Given the description of an element on the screen output the (x, y) to click on. 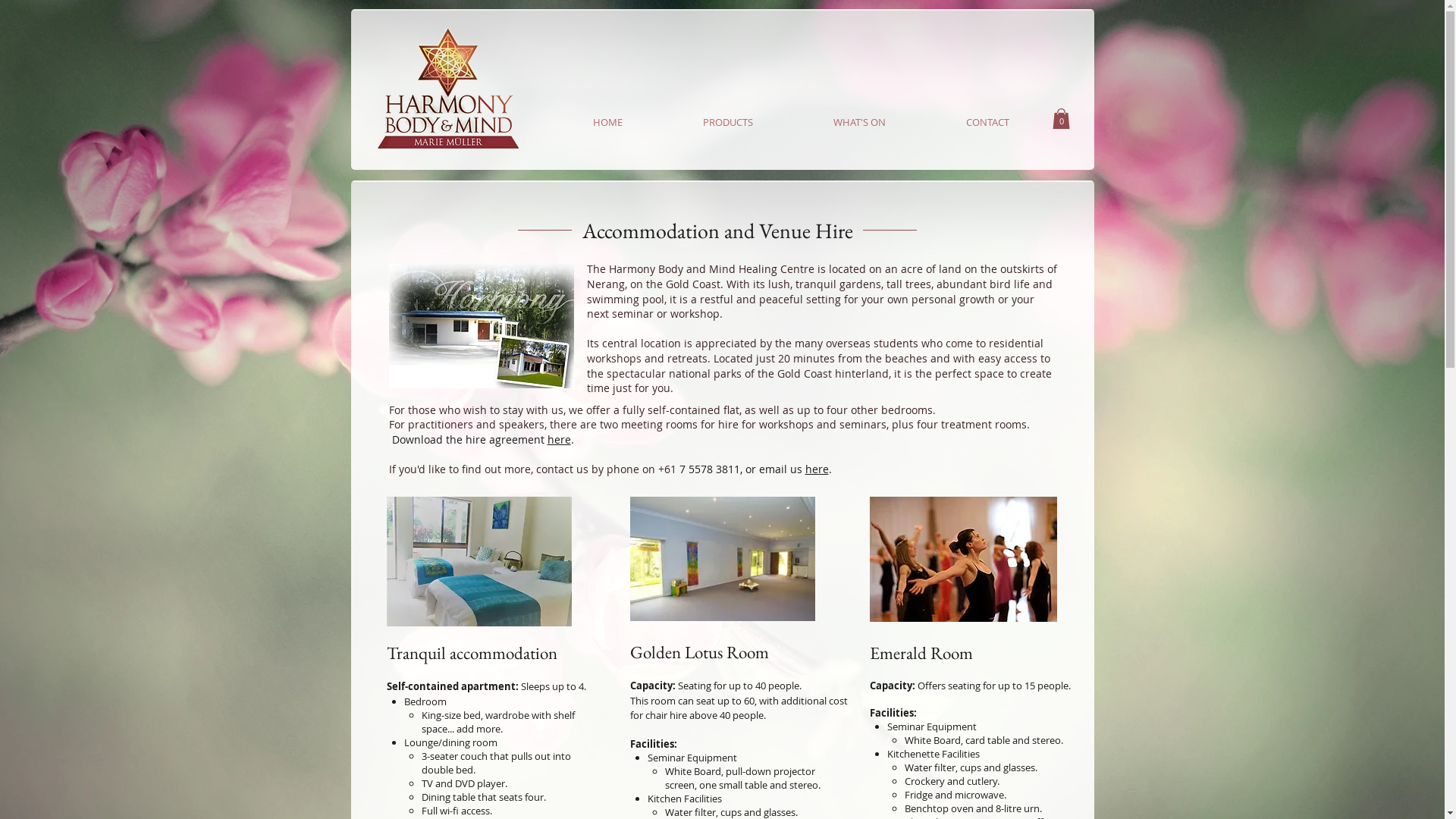
CONTACT Element type: text (986, 121)
0 Element type: text (1061, 118)
PRODUCTS Element type: text (727, 121)
HOME Element type: text (607, 121)
here Element type: text (816, 468)
WHAT'S ON Element type: text (859, 121)
here Element type: text (559, 439)
